Given the description of an element on the screen output the (x, y) to click on. 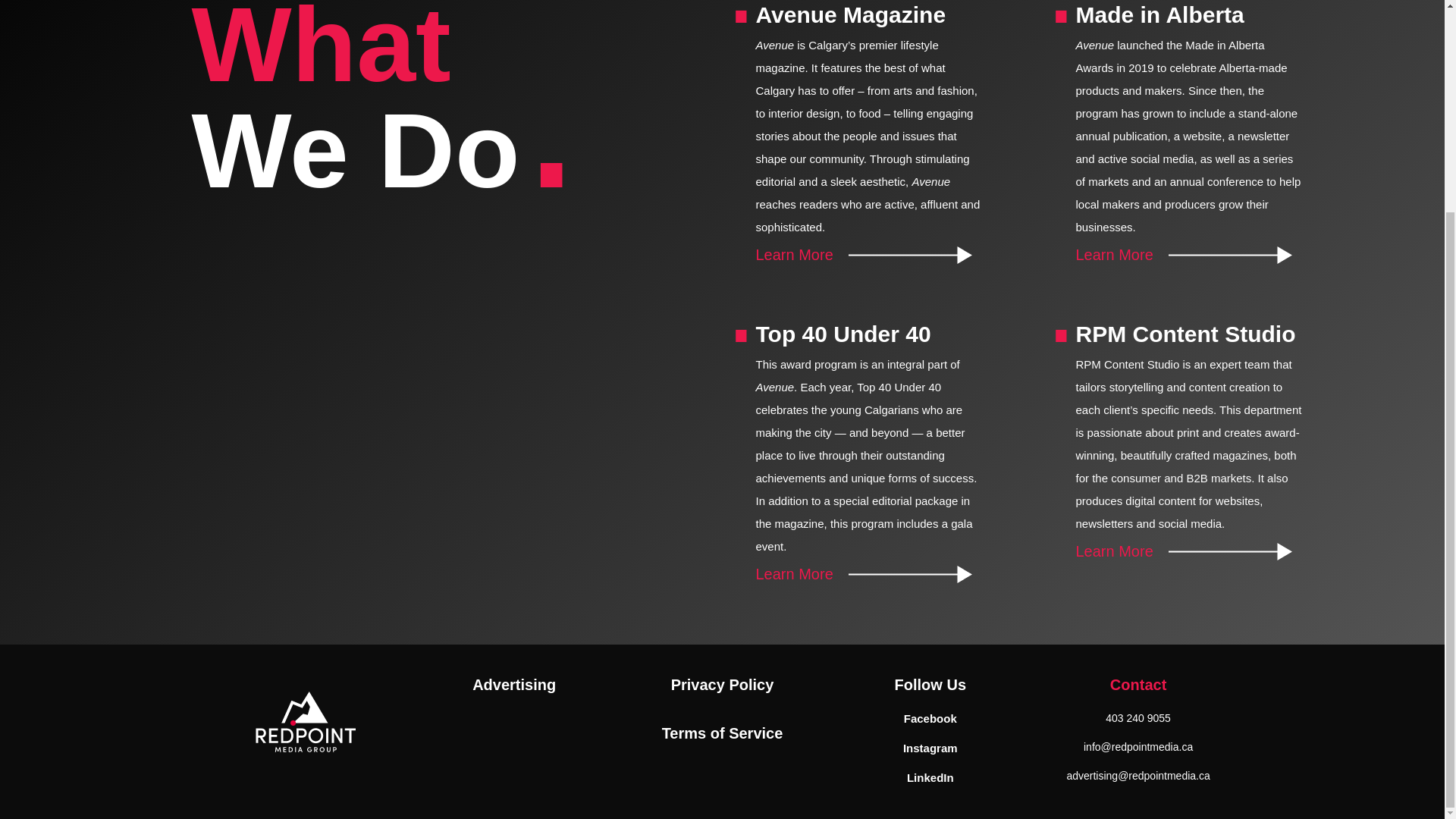
Facebook (930, 717)
Instagram (930, 748)
Group 2 (306, 721)
Terms of Service (722, 733)
Advertising (513, 684)
Learn More (1183, 551)
Learn More (863, 574)
Learn More (863, 255)
Privacy Policy (722, 684)
Learn More (1183, 255)
